Given the description of an element on the screen output the (x, y) to click on. 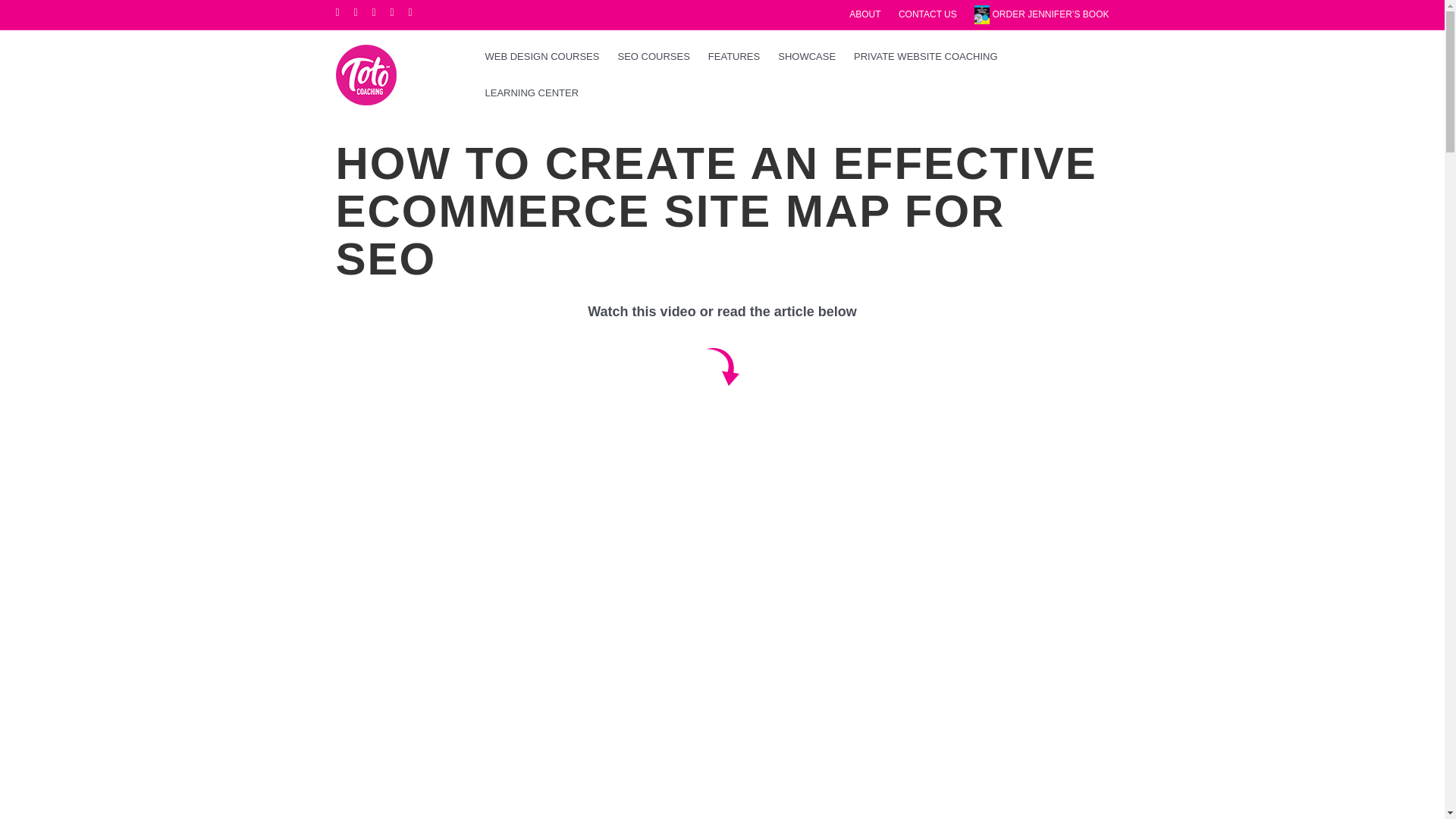
FEATURES (733, 56)
Linkedin (380, 11)
ABOUT (864, 13)
Facebook (343, 11)
Youtube (398, 11)
Twitter (362, 11)
WEB DESIGN COURSES (542, 56)
Instagram (416, 11)
CONTACT US (927, 13)
SEO COURSES (653, 56)
PRIVATE WEBSITE COACHING (925, 56)
LEARNING CENTER (532, 93)
SHOWCASE (806, 56)
